Given the description of an element on the screen output the (x, y) to click on. 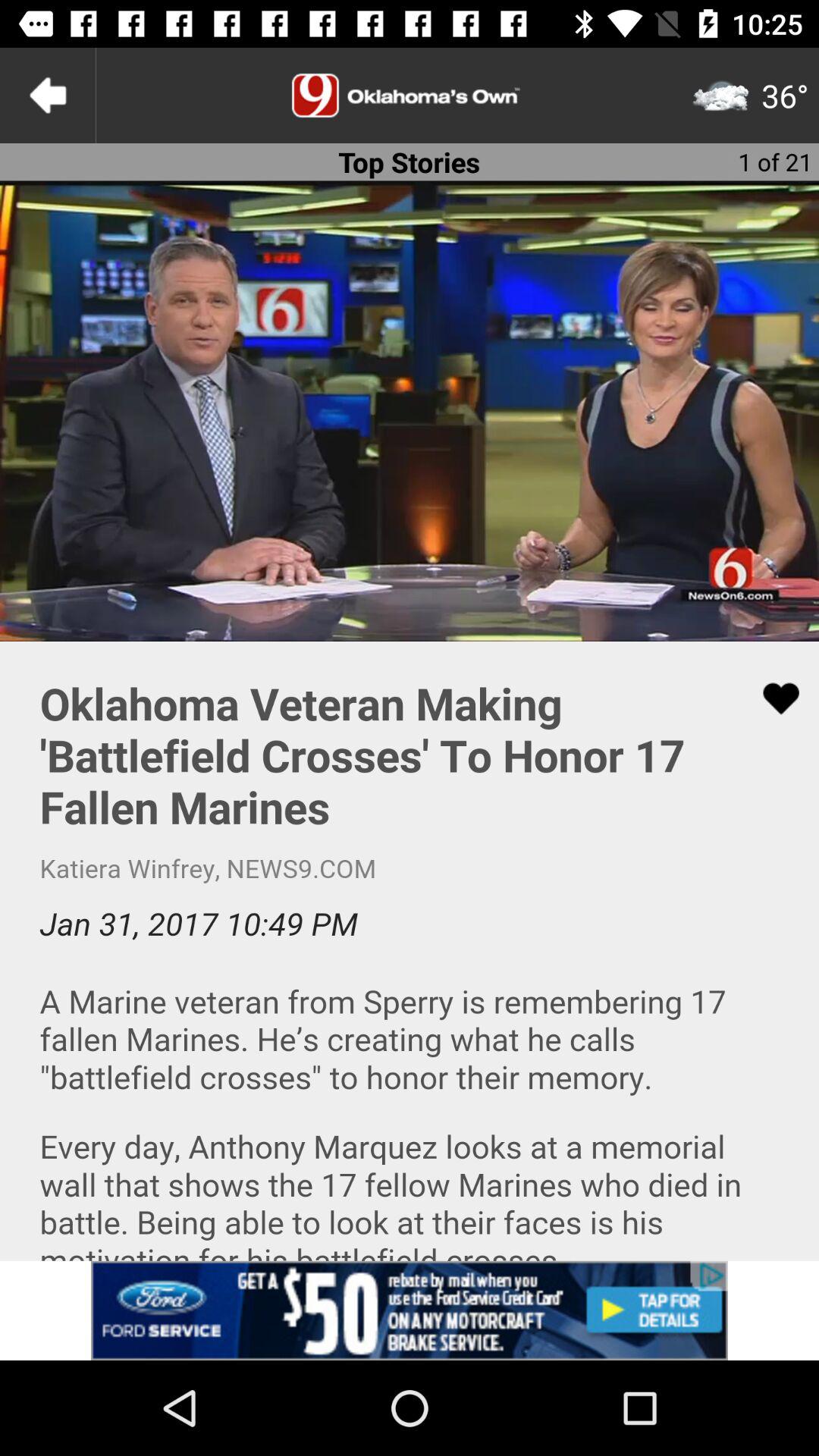
advertisement (409, 1310)
